Given the description of an element on the screen output the (x, y) to click on. 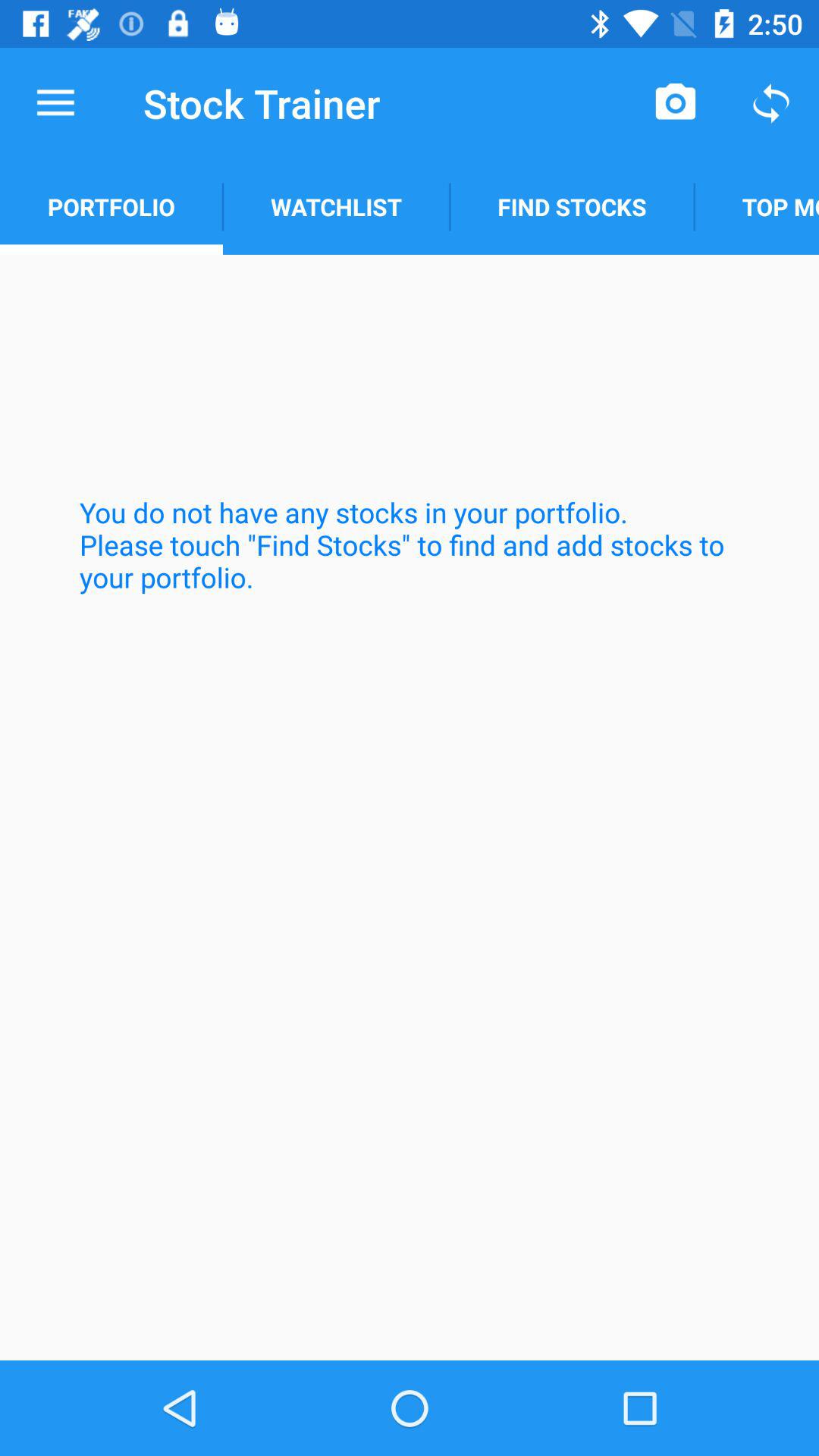
click item above the you do not icon (335, 206)
